Given the description of an element on the screen output the (x, y) to click on. 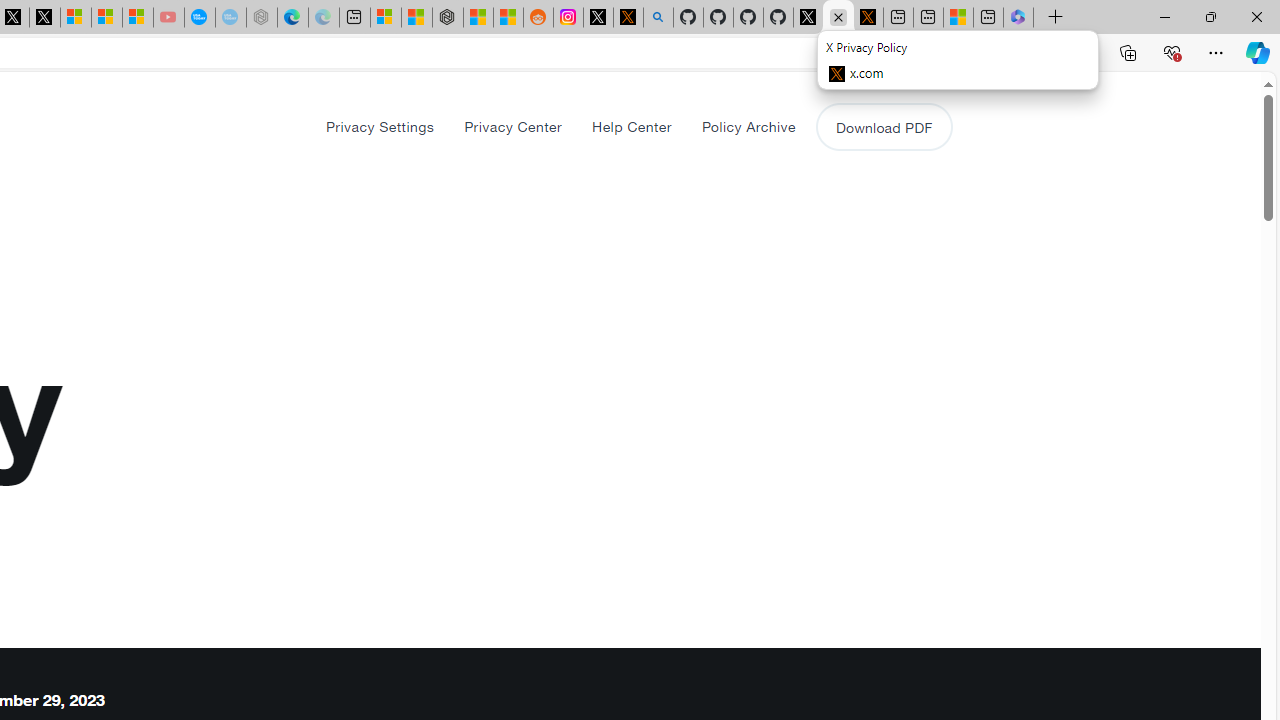
Privacy Settings (380, 126)
